Given the description of an element on the screen output the (x, y) to click on. 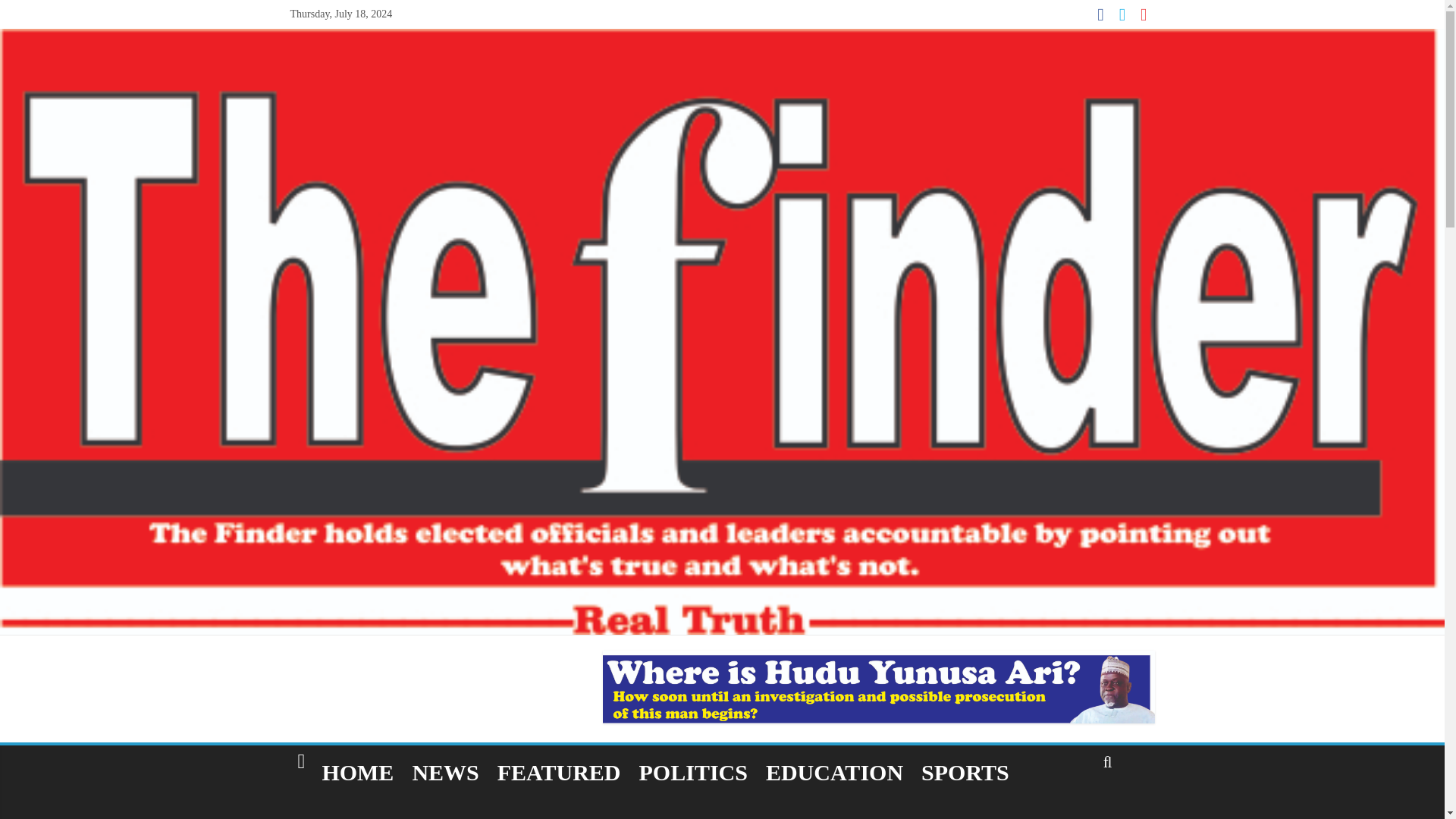
FEATURED (558, 772)
NEWS (445, 772)
HOME (358, 772)
POLITICS (693, 772)
EDUCATION (834, 772)
SUBMIT A STORY (394, 809)
SPORTS (964, 772)
